Given the description of an element on the screen output the (x, y) to click on. 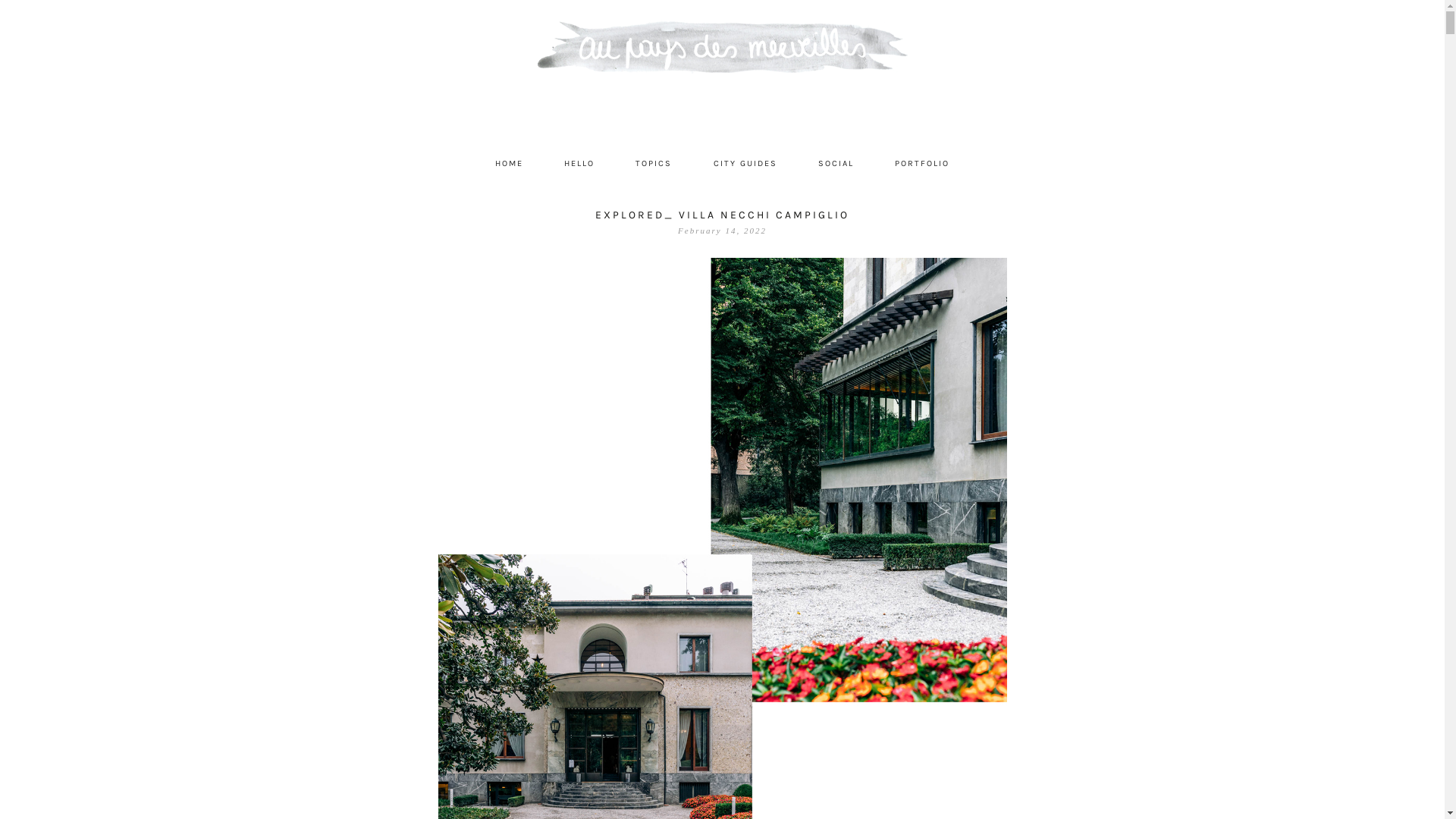
SOCIAL Element type: text (835, 163)
HOME Element type: text (509, 163)
Search Element type: text (34, 8)
AU PAYS DES MERVEILLES Element type: text (722, 75)
TOPICS Element type: text (653, 163)
Skip to content Element type: text (436, 150)
CITY GUIDES Element type: text (745, 163)
HELLO Element type: text (579, 163)
EXPLORED_ VILLA NECCHI CAMPIGLIO Element type: text (722, 214)
PORTFOLIO Element type: text (921, 163)
